Given the description of an element on the screen output the (x, y) to click on. 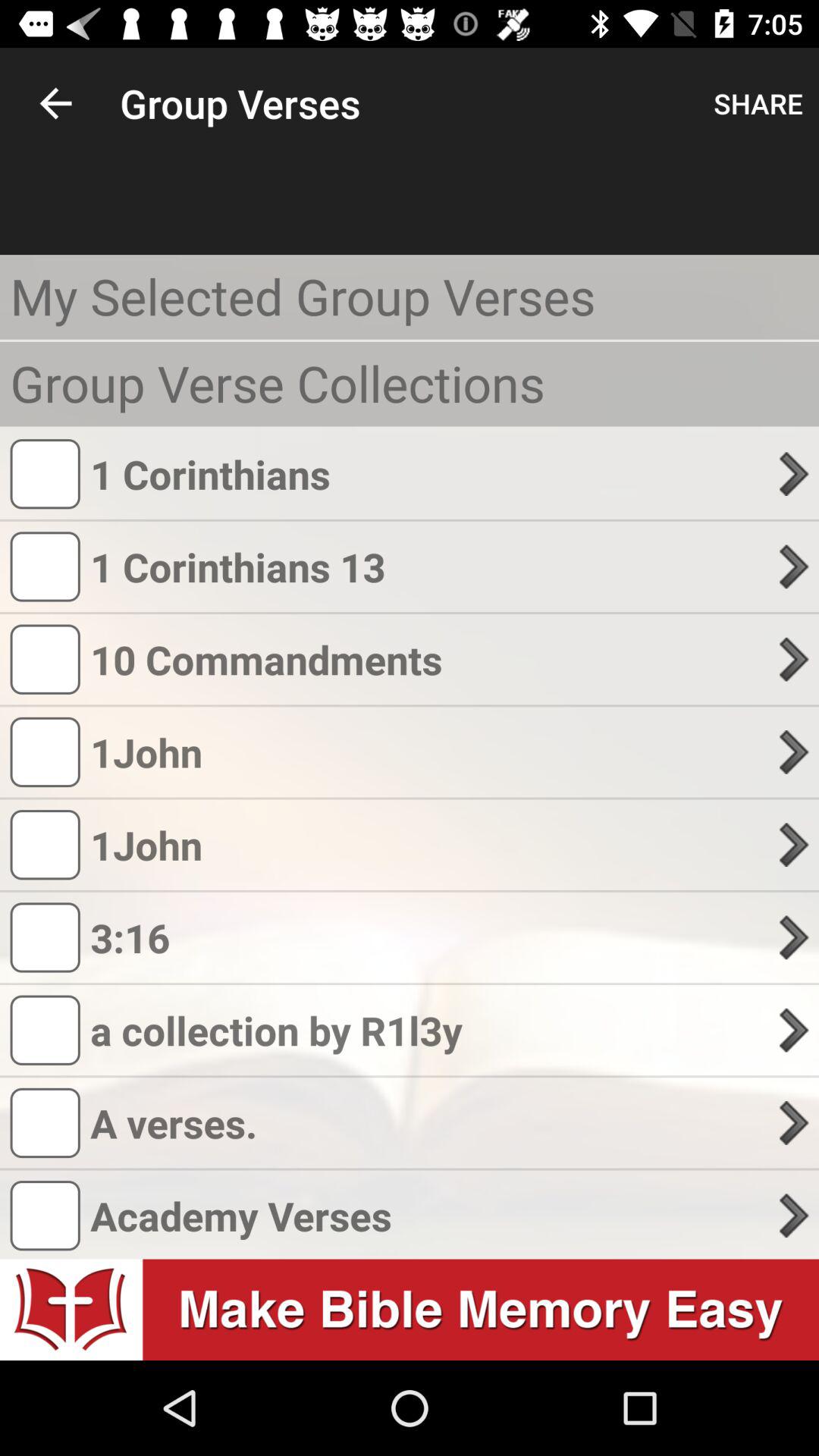
select the box which is just before the text academy verses (45, 1215)
click on bottom of the third icon (45, 1030)
checkbox before 10 commandments text (45, 659)
click on the arrow button right to r1i3y (794, 1030)
choose the fourth logo in group verses from the top (45, 752)
